Given the description of an element on the screen output the (x, y) to click on. 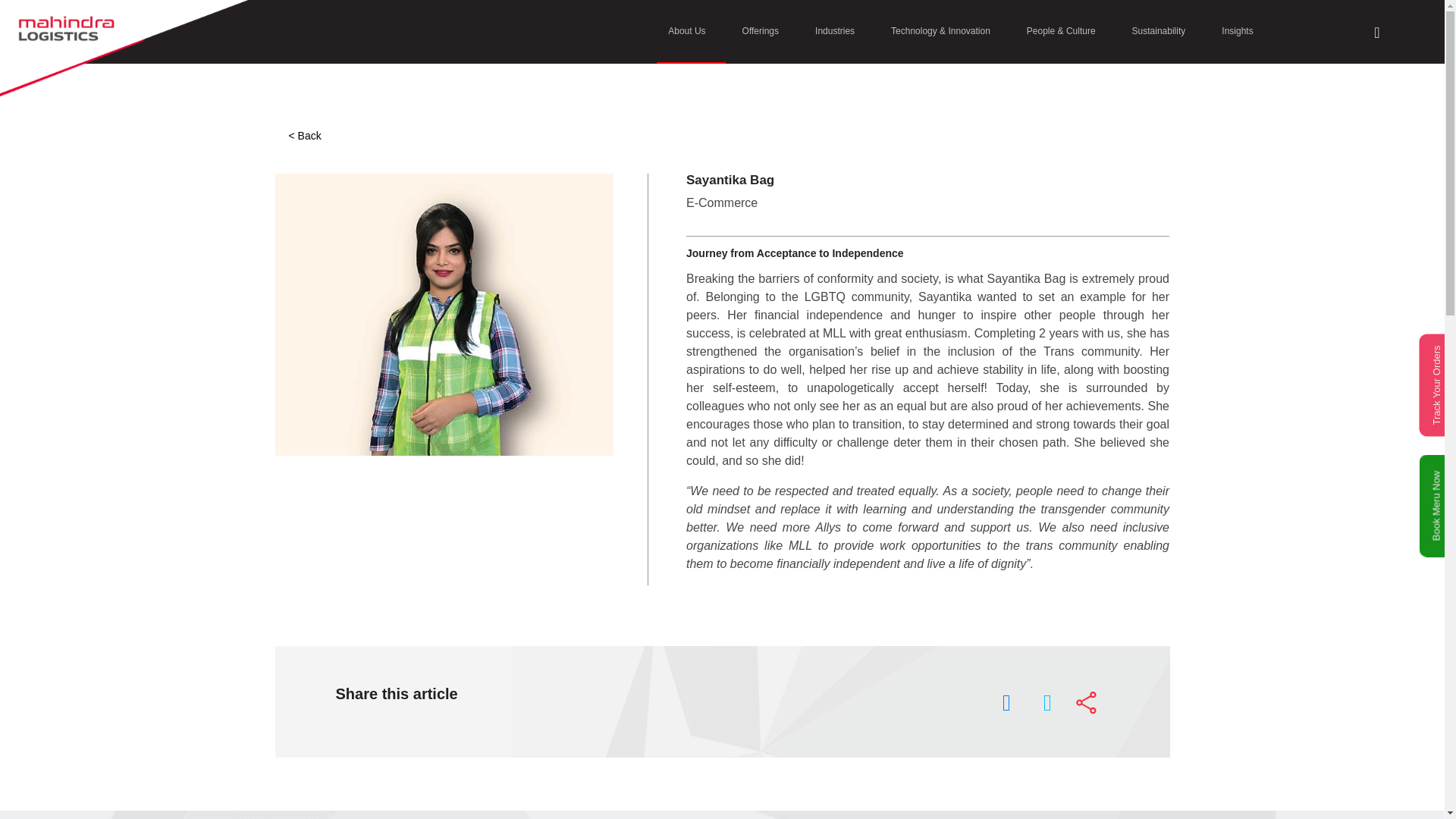
About Us (686, 31)
Offerings (759, 31)
